Given the description of an element on the screen output the (x, y) to click on. 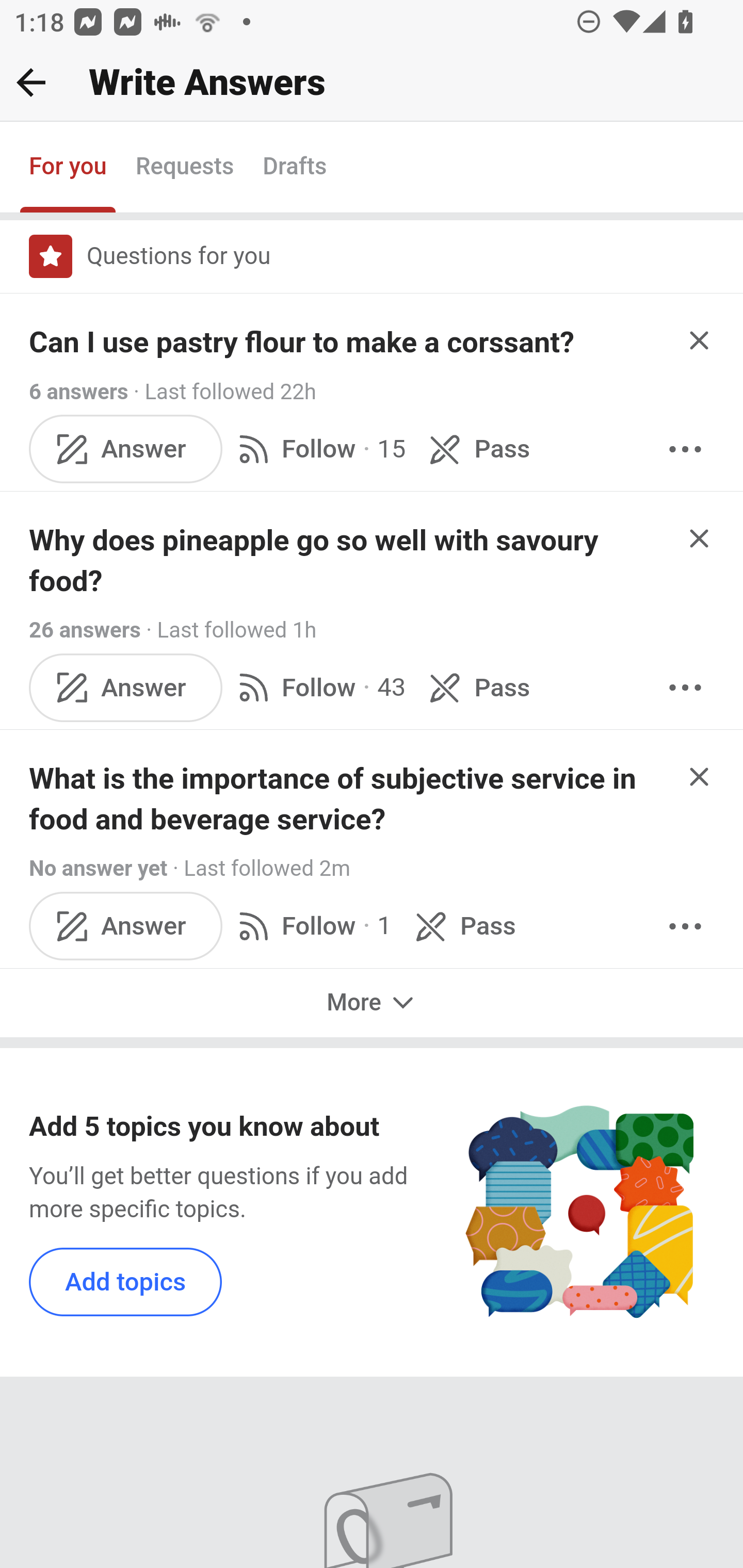
Back (30, 82)
For you (68, 167)
Requests (183, 167)
Drafts (295, 167)
Hide (699, 340)
Can I use pastry flour to make a corssant? (301, 342)
6 answers 6  answers (79, 390)
Answer (125, 448)
Follow · 15 (317, 448)
Pass (476, 448)
More (684, 448)
Hide (699, 537)
Why does pineapple go so well with savoury food? (352, 560)
26 answers 26  answers (84, 629)
Answer (125, 687)
Follow · 43 (317, 687)
Pass (476, 687)
More (684, 687)
Hide (699, 776)
No answer yet (97, 868)
Answer (125, 925)
Follow · 1 (311, 925)
Pass (461, 925)
More (684, 925)
More (371, 1002)
Add topics (125, 1281)
